Given the description of an element on the screen output the (x, y) to click on. 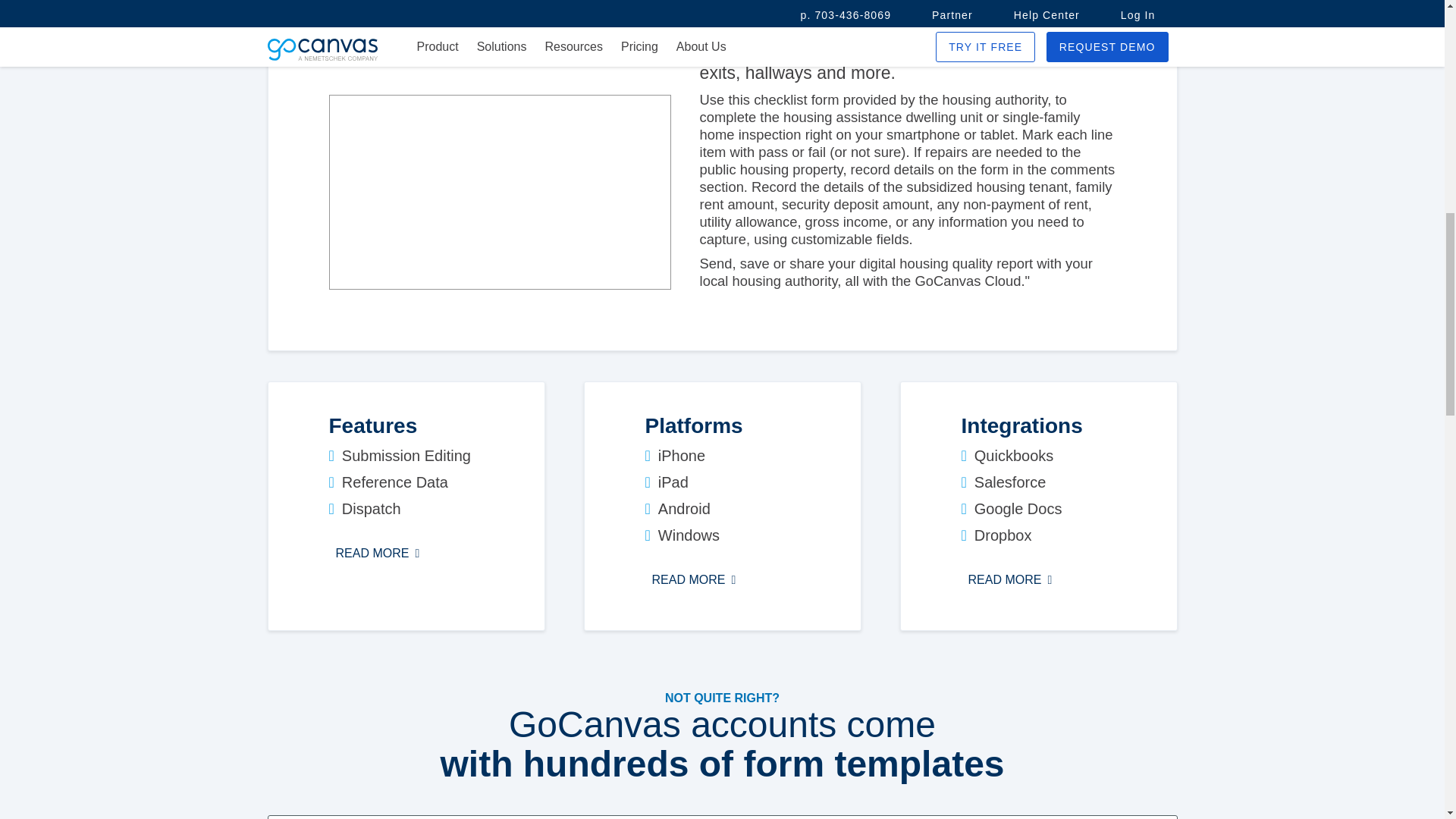
READ MORE (377, 553)
READ MORE (1009, 579)
READ MORE (693, 579)
